Given the description of an element on the screen output the (x, y) to click on. 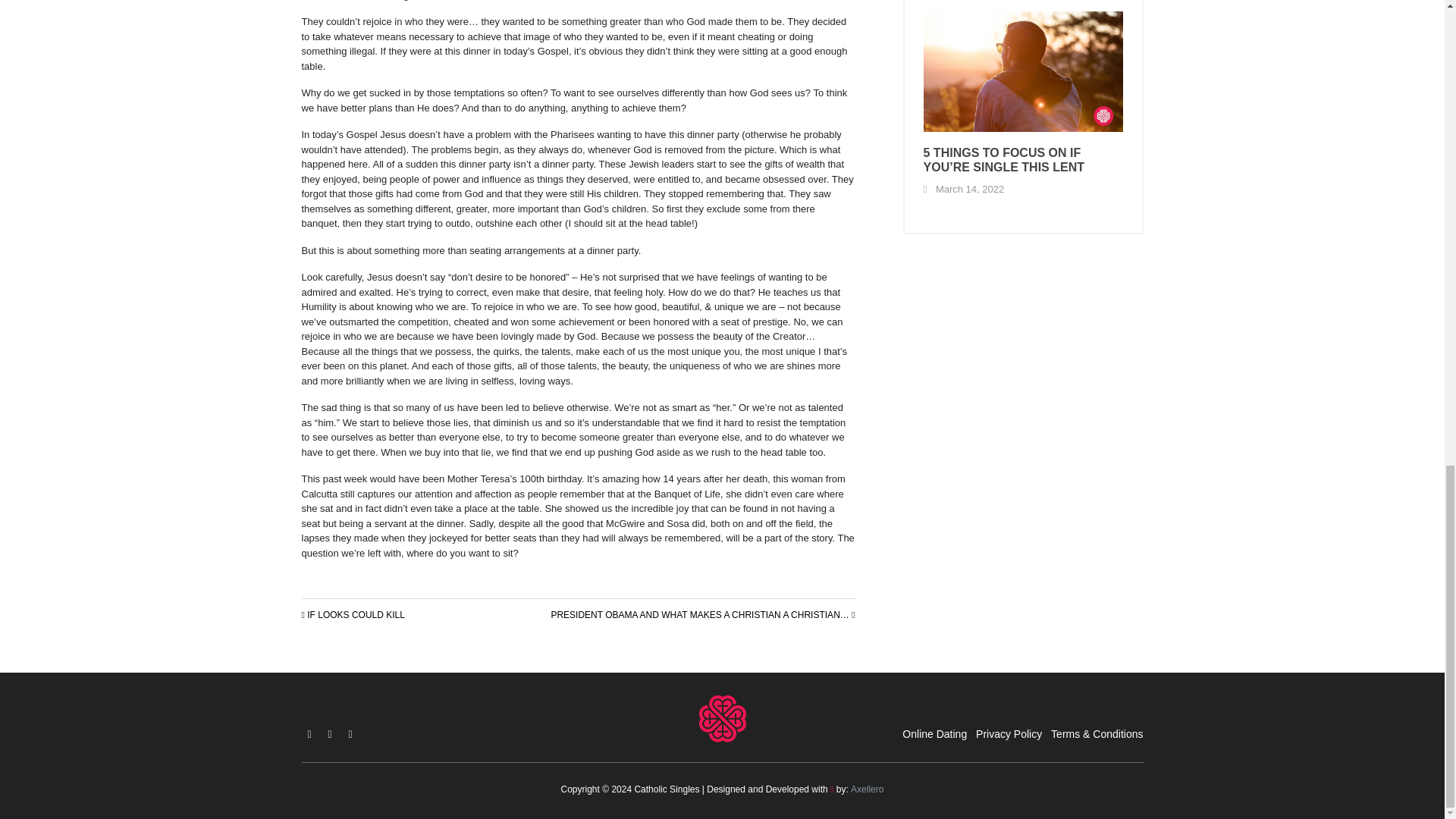
Privacy Policy (1008, 734)
 IF LOOKS COULD KILL (352, 614)
Online Dating (934, 734)
